Given the description of an element on the screen output the (x, y) to click on. 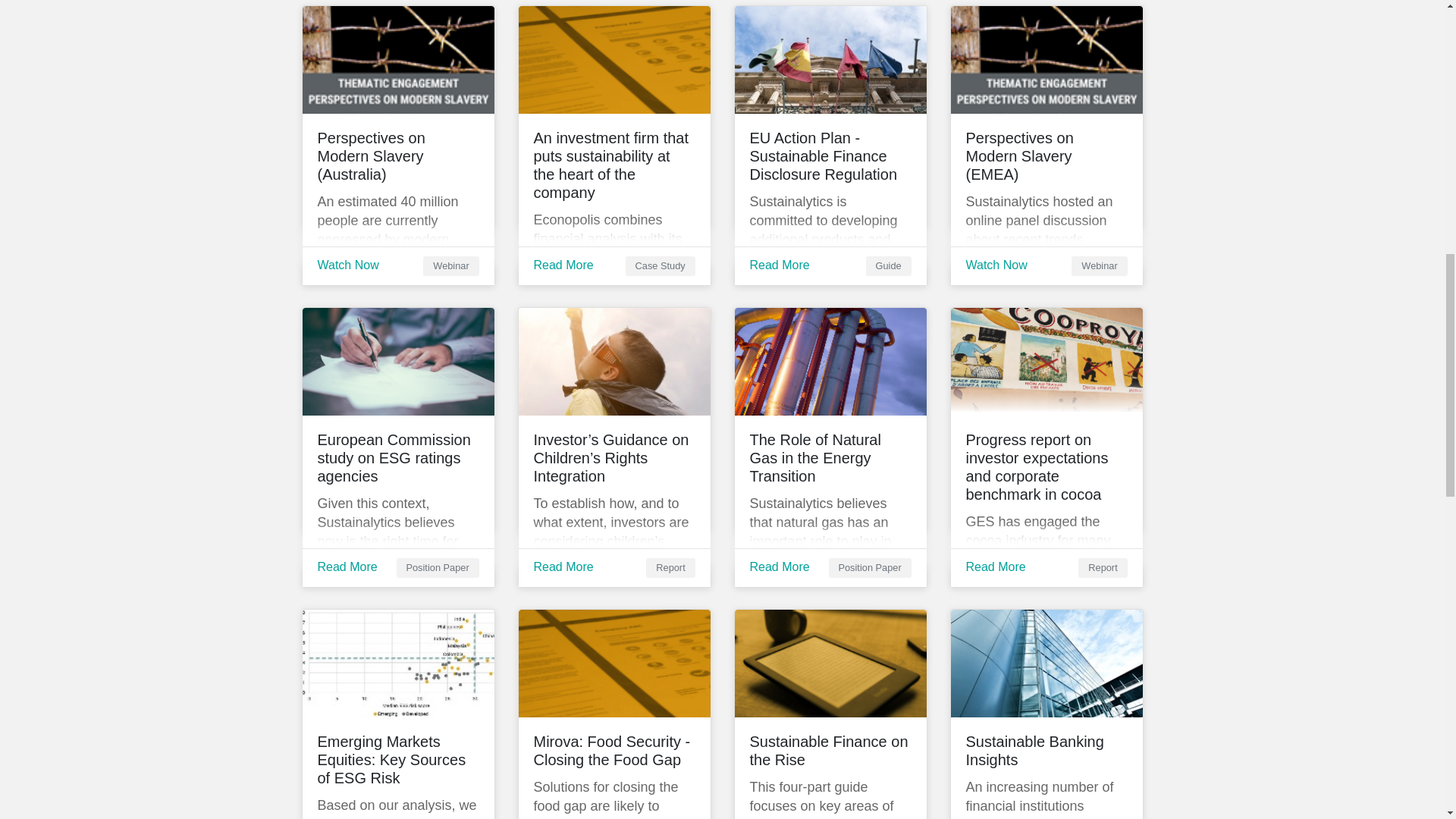
child (614, 361)
Group 9 (614, 663)
Website-Event-Picture (1046, 59)
natural gas (829, 361)
Group 9 (614, 59)
modern slavery webinar (397, 59)
eurozone (829, 59)
Group 10 (829, 663)
ESGSpotlight-Emerging-markets-graph (397, 663)
